Given the description of an element on the screen output the (x, y) to click on. 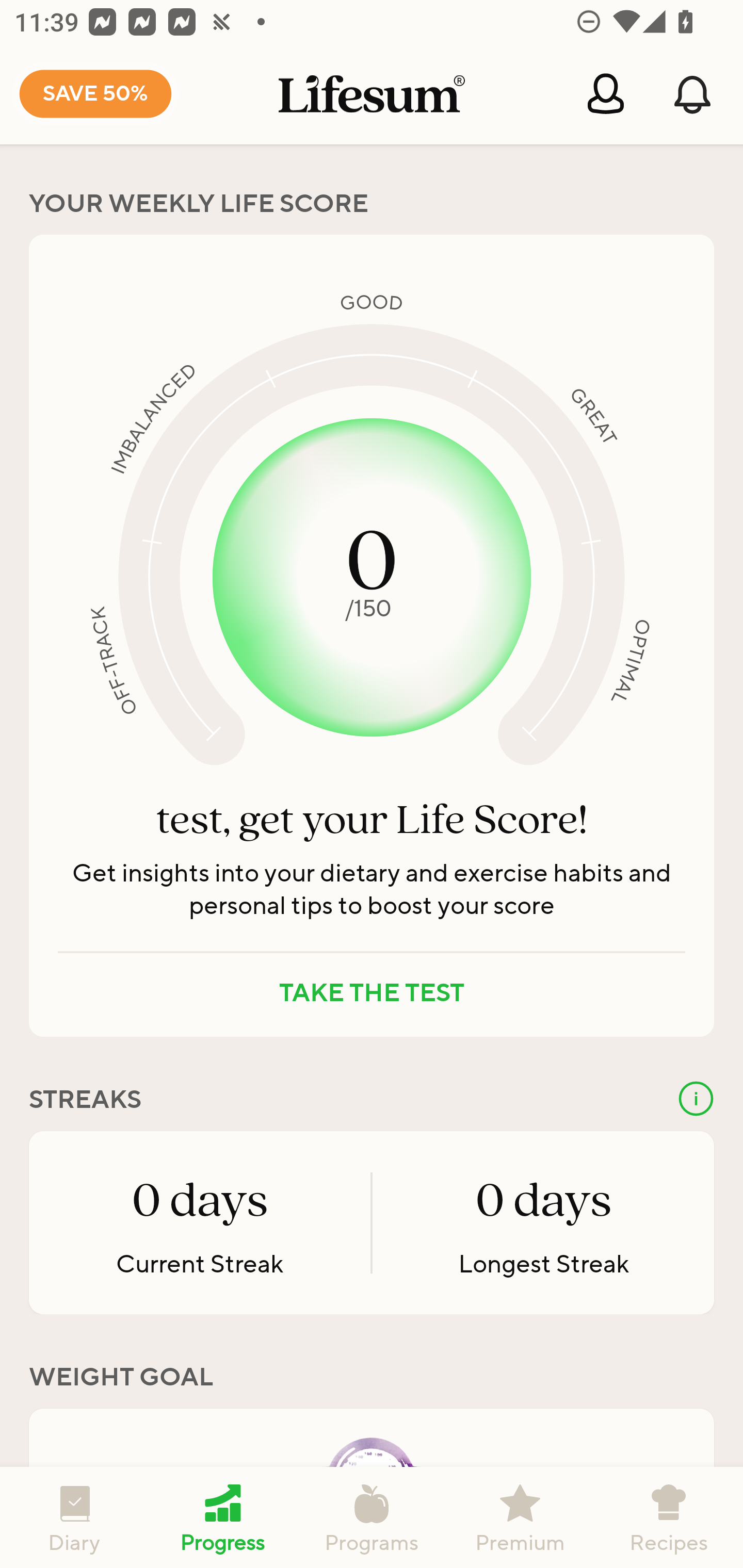
TAKE THE TEST (371, 993)
Diary (74, 1517)
Programs (371, 1517)
Premium (519, 1517)
Recipes (668, 1517)
